Given the description of an element on the screen output the (x, y) to click on. 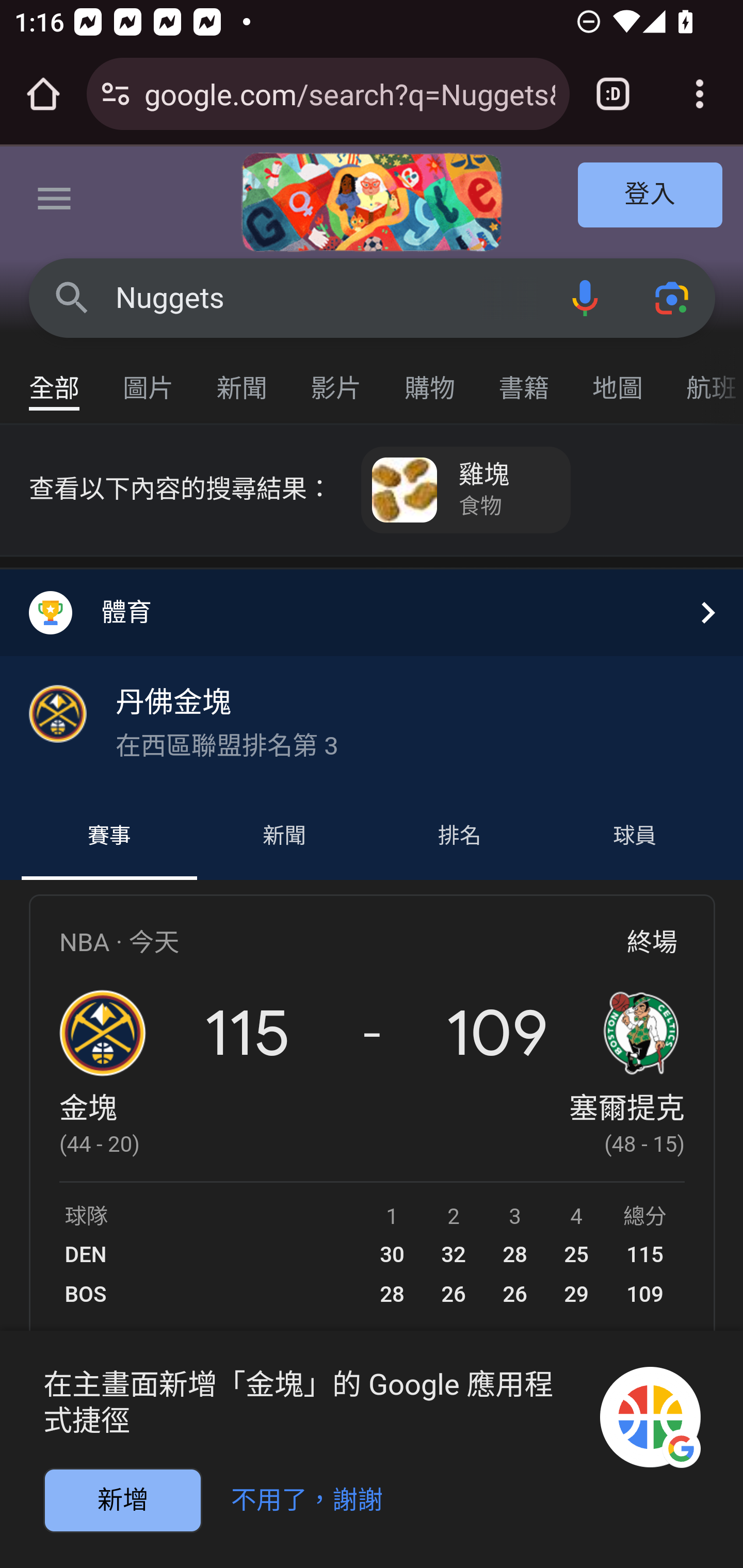
Open the home page (43, 93)
Connection is secure (115, 93)
Switch or close tabs (612, 93)
Customize and control Google Chrome (699, 93)
2024 年國際婦女節 (371, 202)
主選單 (54, 202)
登入 (650, 195)
Google 搜尋 (71, 296)
使用相機或相片搜尋 (672, 296)
Nuggets (328, 297)
圖片 (148, 378)
新聞 (242, 378)
影片 (336, 378)
購物 (430, 378)
書籍 (524, 378)
地圖 (618, 378)
航班 (703, 378)
雞塊 食物 雞塊 食物 (466, 489)
體育 (371, 611)
賽事 (109, 836)
新聞 (283, 836)
排名 (460, 836)
球員 (634, 836)
新增 (123, 1501)
不用了，謝謝 (314, 1497)
